Given the description of an element on the screen output the (x, y) to click on. 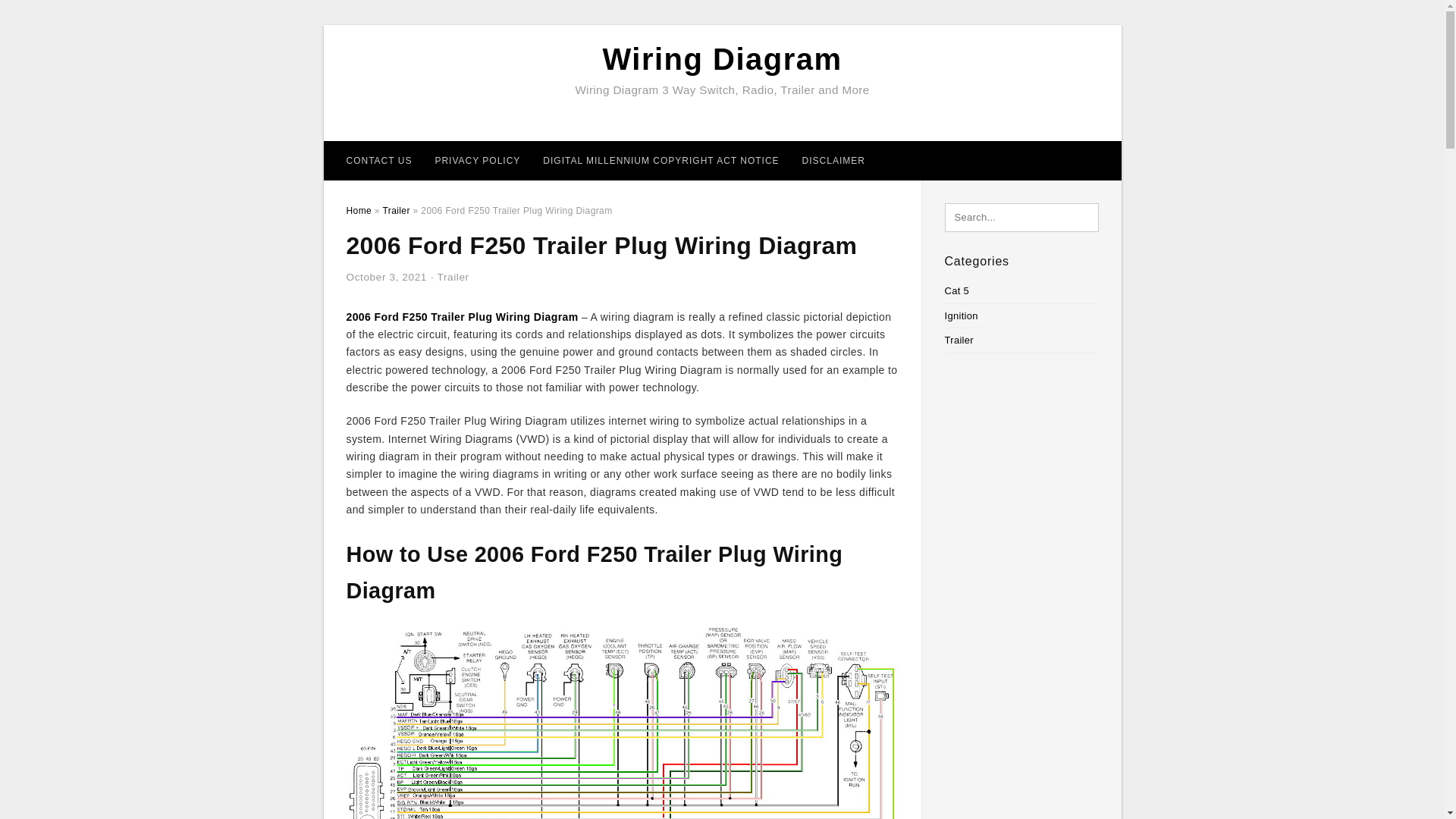
2006 Ford F250 Trailer Plug Wiring Diagram (462, 316)
Trailer (453, 276)
Home (358, 210)
PRIVACY POLICY (477, 160)
Wiring Diagram (721, 59)
DISCLAIMER (833, 160)
DIGITAL MILLENNIUM COPYRIGHT ACT NOTICE (660, 160)
Trailer (395, 210)
CONTACT US (378, 160)
